Given the description of an element on the screen output the (x, y) to click on. 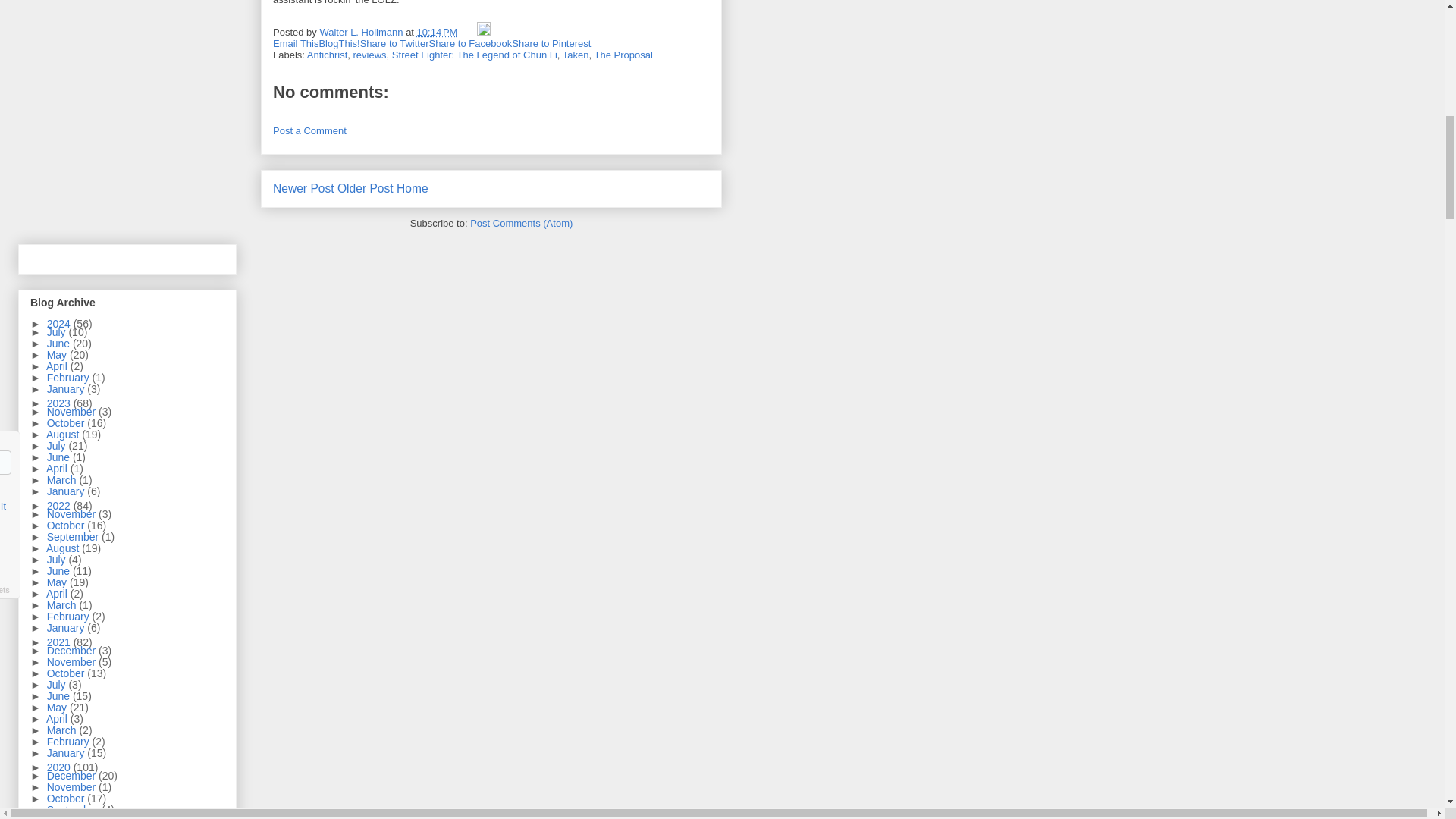
Email This (295, 43)
2024 (60, 323)
permanent link (437, 31)
Home (412, 187)
Email Post (468, 31)
BlogThis! (338, 43)
Taken (575, 54)
Share to Twitter (394, 43)
July (57, 331)
Antichrist (327, 54)
reviews (370, 54)
Share to Facebook (470, 43)
Older Post (365, 187)
Share to Twitter (394, 43)
Post a Comment (309, 130)
